Given the description of an element on the screen output the (x, y) to click on. 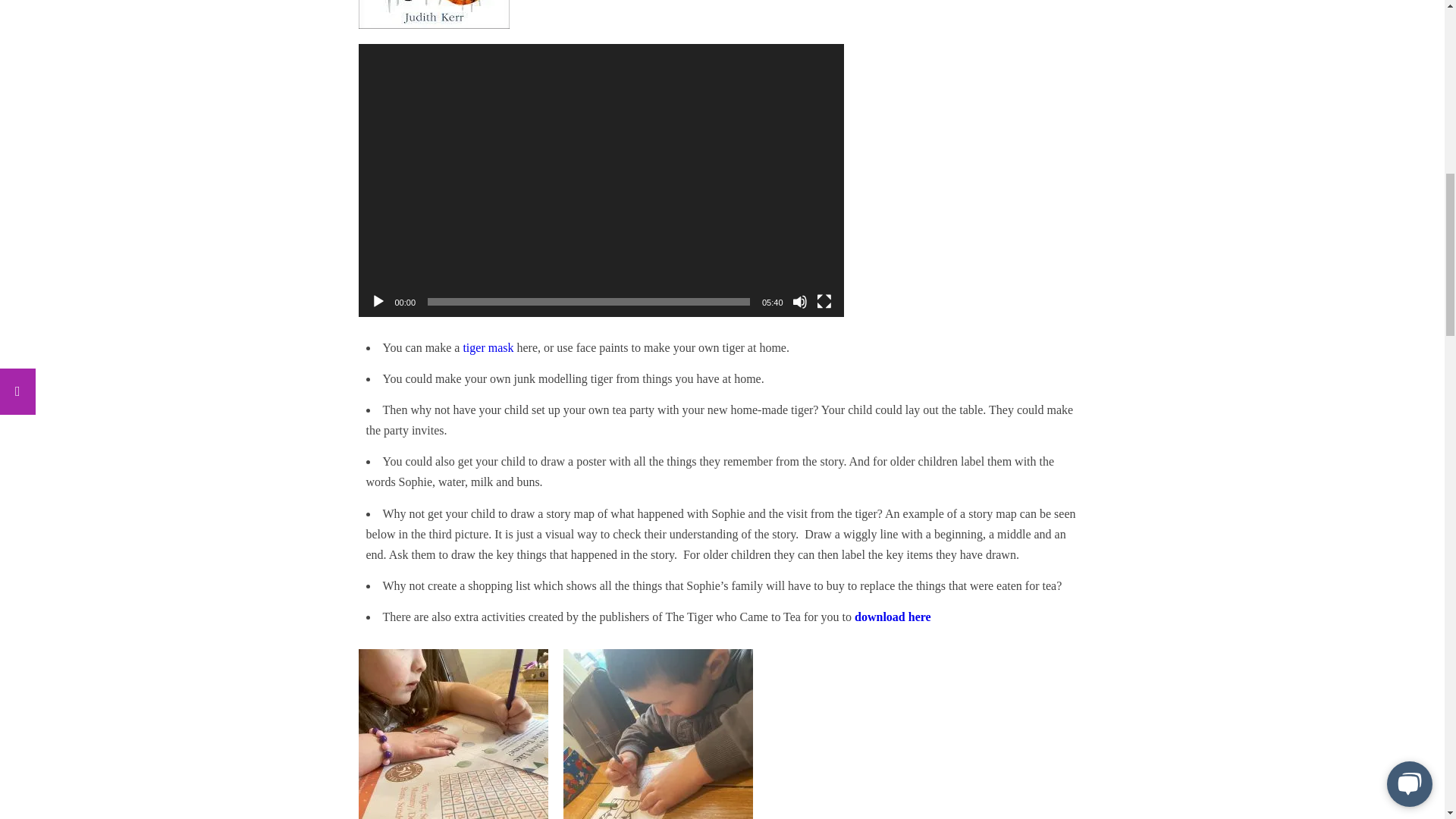
Mute (799, 301)
Play (377, 301)
Fullscreen (823, 301)
